Given the description of an element on the screen output the (x, y) to click on. 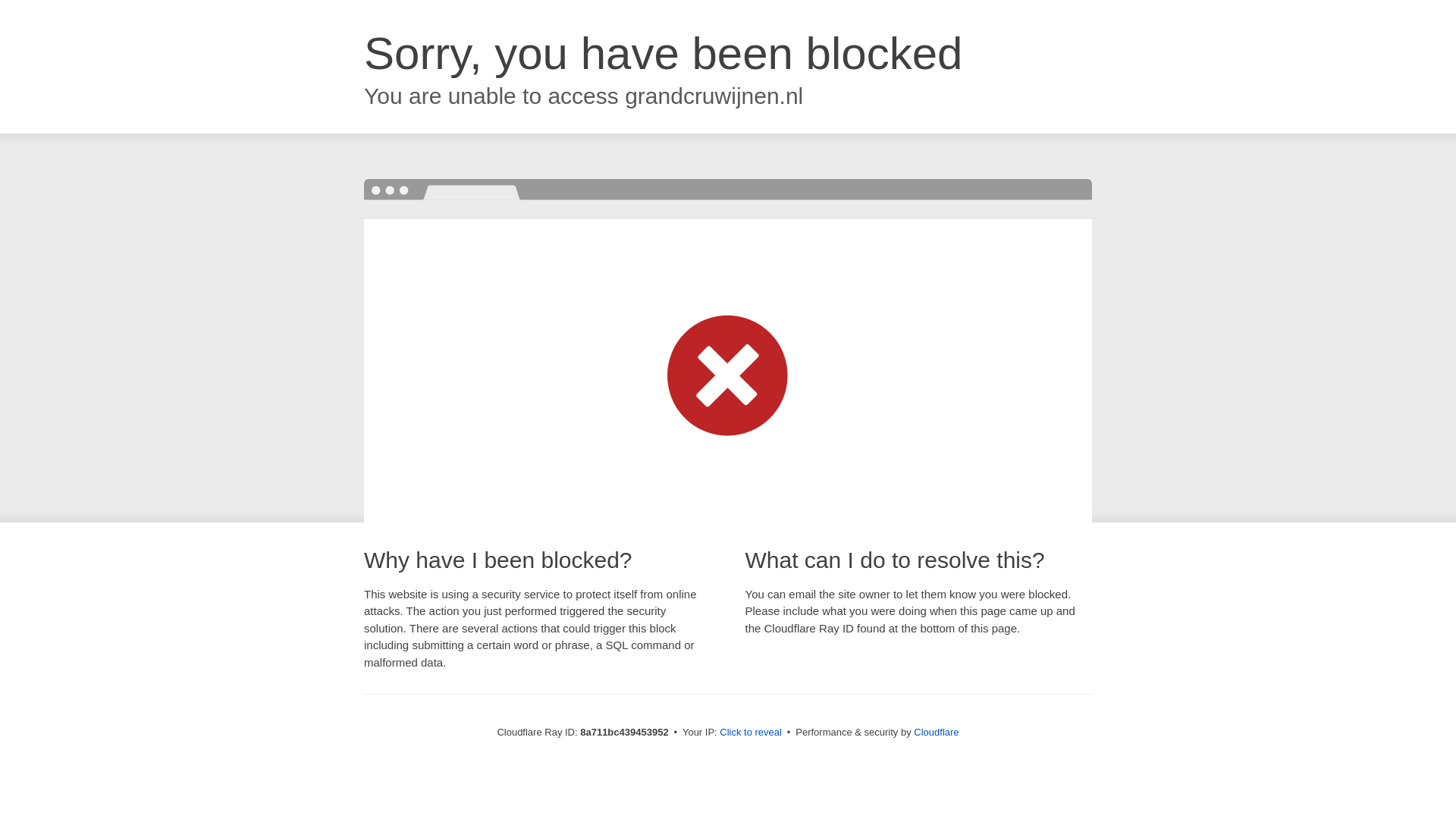
Cloudflare (936, 731)
Click to reveal (750, 732)
